Given the description of an element on the screen output the (x, y) to click on. 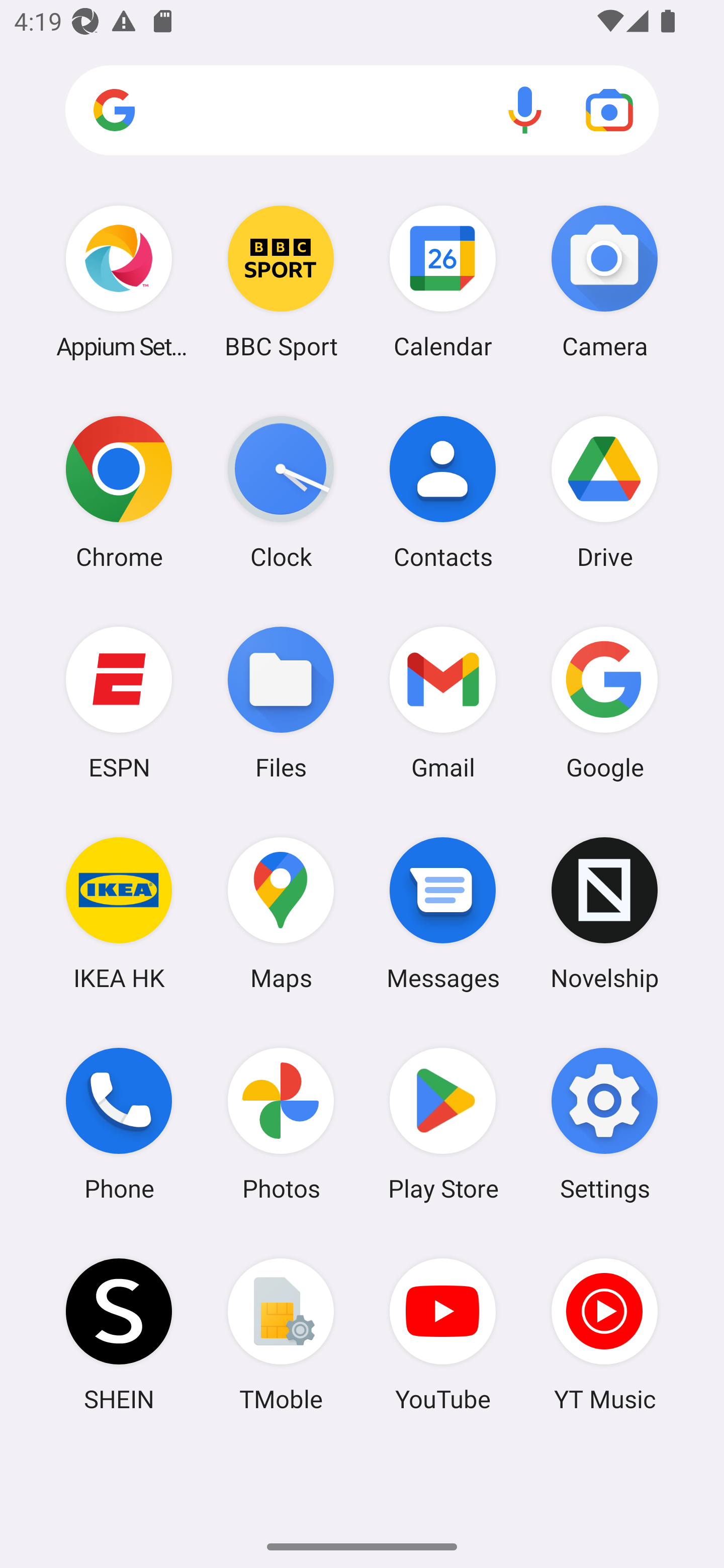
Search apps, web and more (361, 110)
Voice search (524, 109)
Google Lens (608, 109)
Appium Settings (118, 281)
BBC Sport (280, 281)
Calendar (443, 281)
Camera (604, 281)
Chrome (118, 492)
Clock (280, 492)
Contacts (443, 492)
Drive (604, 492)
ESPN (118, 702)
Files (280, 702)
Gmail (443, 702)
Google (604, 702)
IKEA HK (118, 913)
Maps (280, 913)
Messages (443, 913)
Novelship (604, 913)
Phone (118, 1124)
Photos (280, 1124)
Play Store (443, 1124)
Settings (604, 1124)
SHEIN (118, 1334)
TMoble (280, 1334)
YouTube (443, 1334)
YT Music (604, 1334)
